Given the description of an element on the screen output the (x, y) to click on. 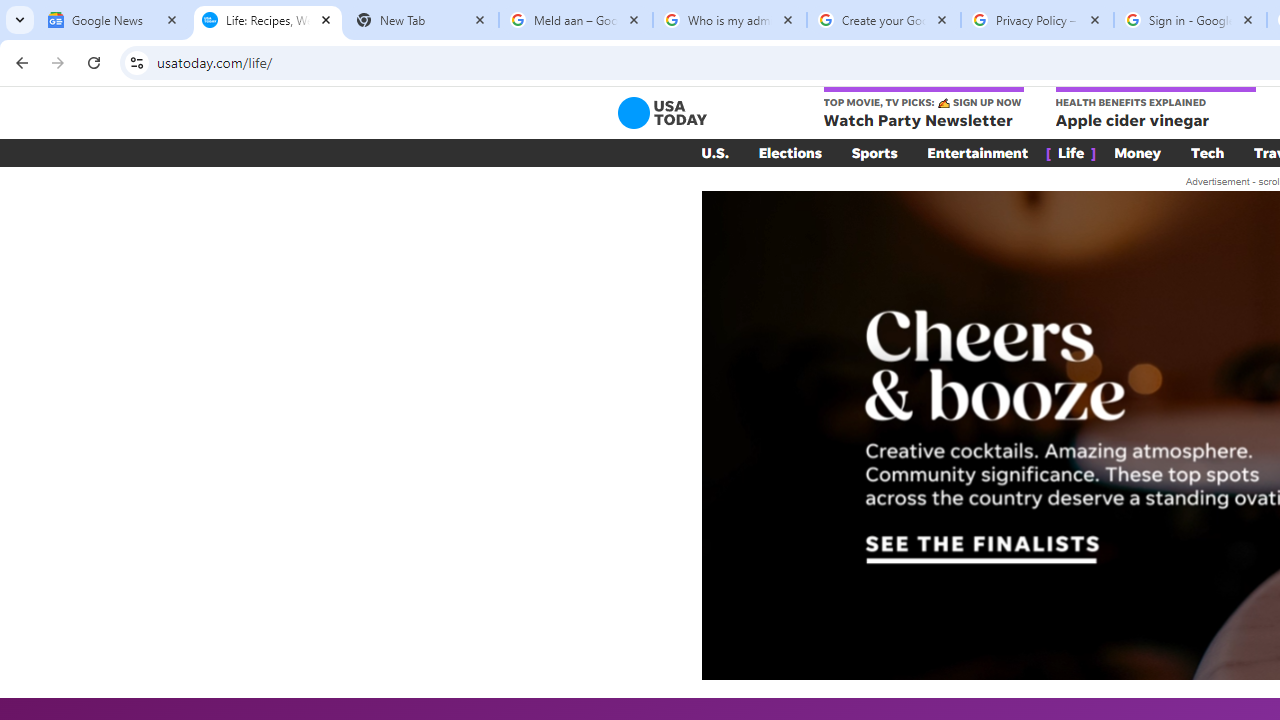
New Tab (421, 20)
View site information (136, 62)
Google News (113, 20)
Create your Google Account (883, 20)
USA TODAY (661, 112)
System (10, 11)
Life: Recipes, Wellness & Horoscopes - USA TODAY (267, 20)
HEALTH BENEFITS EXPLAINED Apple cider vinegar (1154, 109)
Search tabs (20, 20)
Tech (1207, 152)
Who is my administrator? - Google Account Help (729, 20)
U.S. (714, 152)
Back (19, 62)
